Given the description of an element on the screen output the (x, y) to click on. 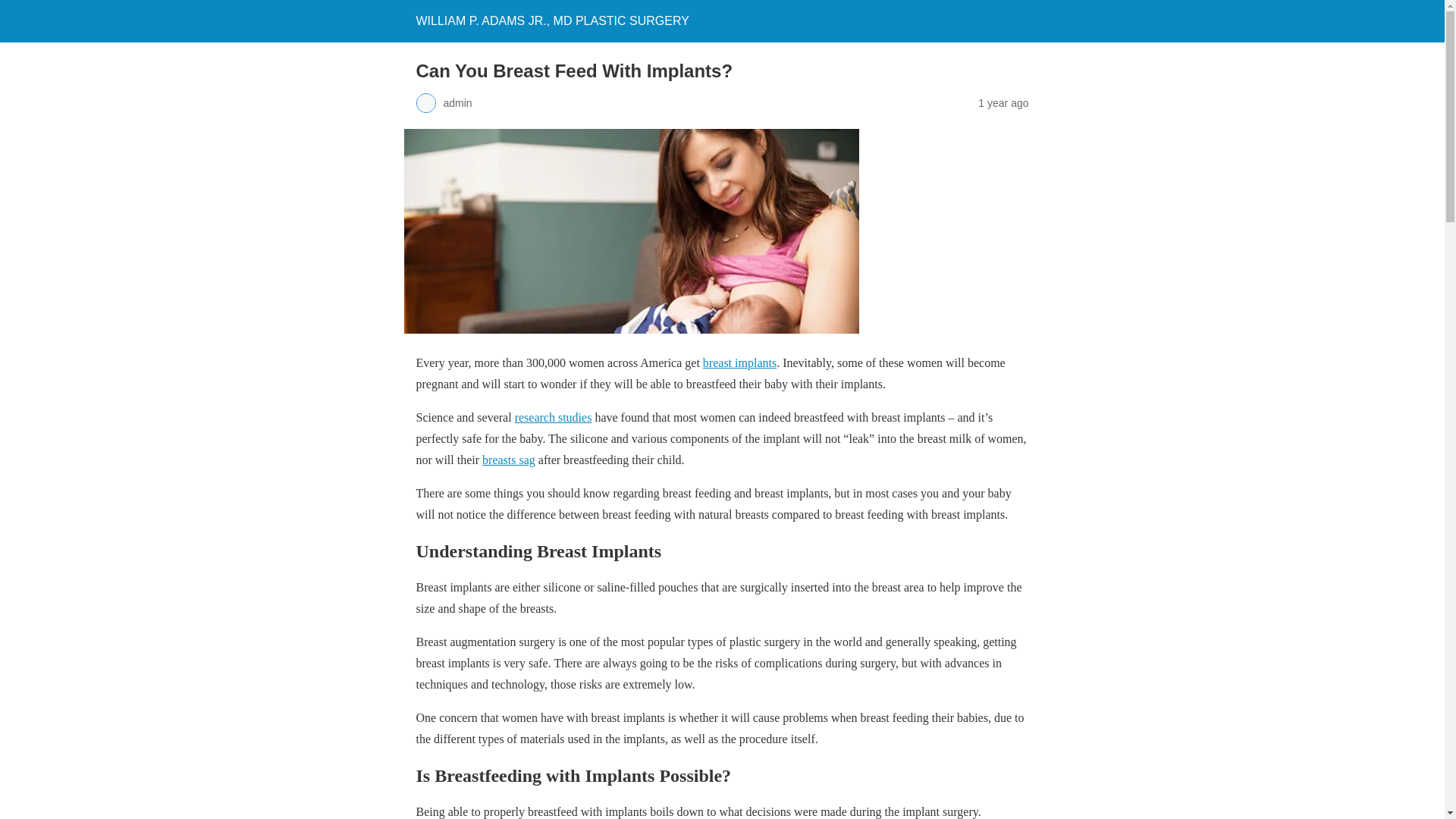
WILLIAM P. ADAMS JR., MD PLASTIC SURGERY (551, 20)
research studies (553, 417)
breasts sag (508, 459)
breast implants (739, 362)
